Given the description of an element on the screen output the (x, y) to click on. 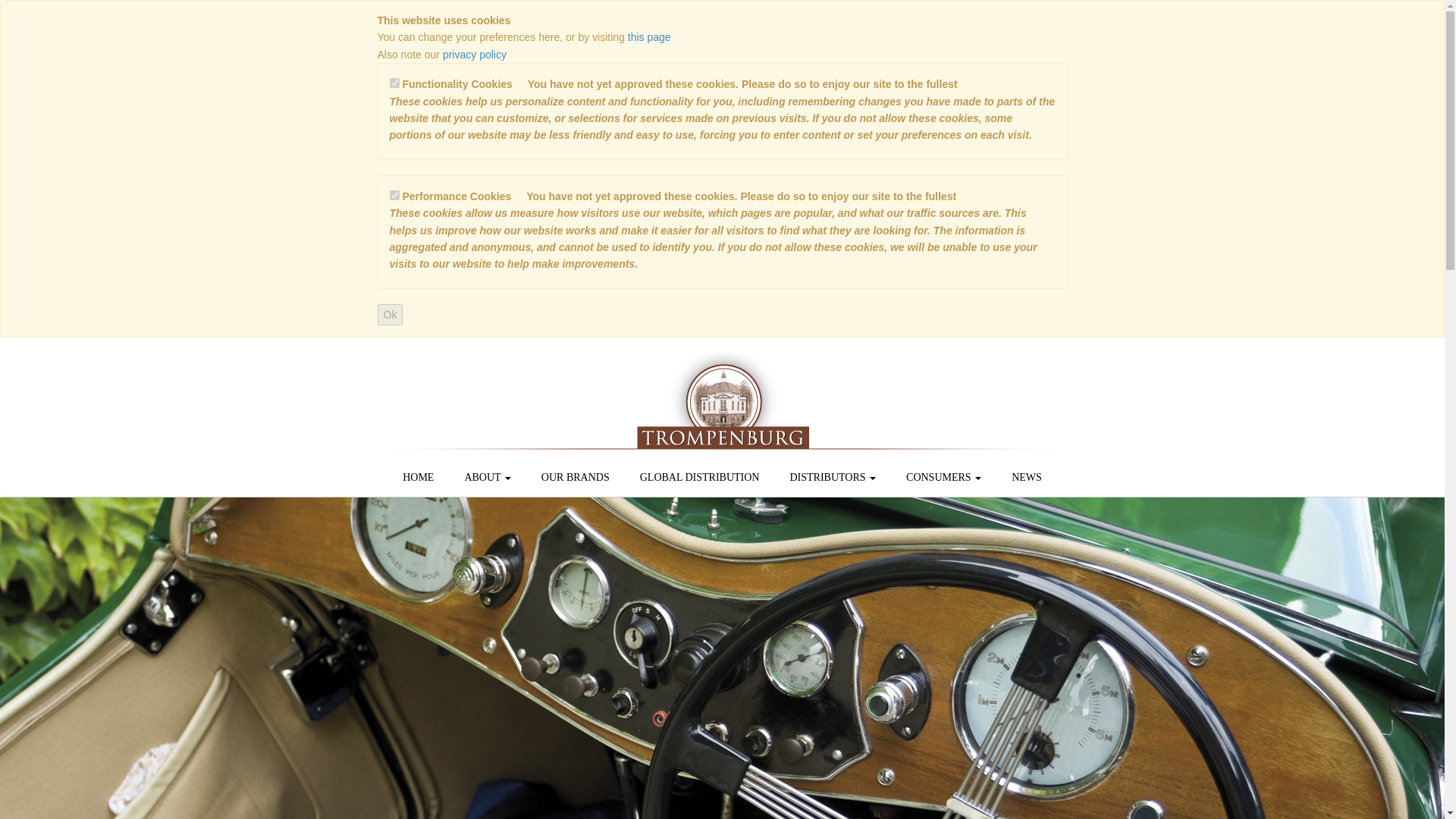
cookies and privacy (649, 37)
Ok (390, 314)
CONSUMERS (943, 477)
ABOUT (486, 477)
OUR BRANDS (574, 477)
Ok (390, 314)
DISTRIBUTORS (832, 477)
y (394, 194)
this page (649, 37)
NEWS (1026, 477)
HOME (417, 477)
privacy policy (474, 54)
y (394, 82)
GLOBAL DISTRIBUTION (699, 477)
